Given the description of an element on the screen output the (x, y) to click on. 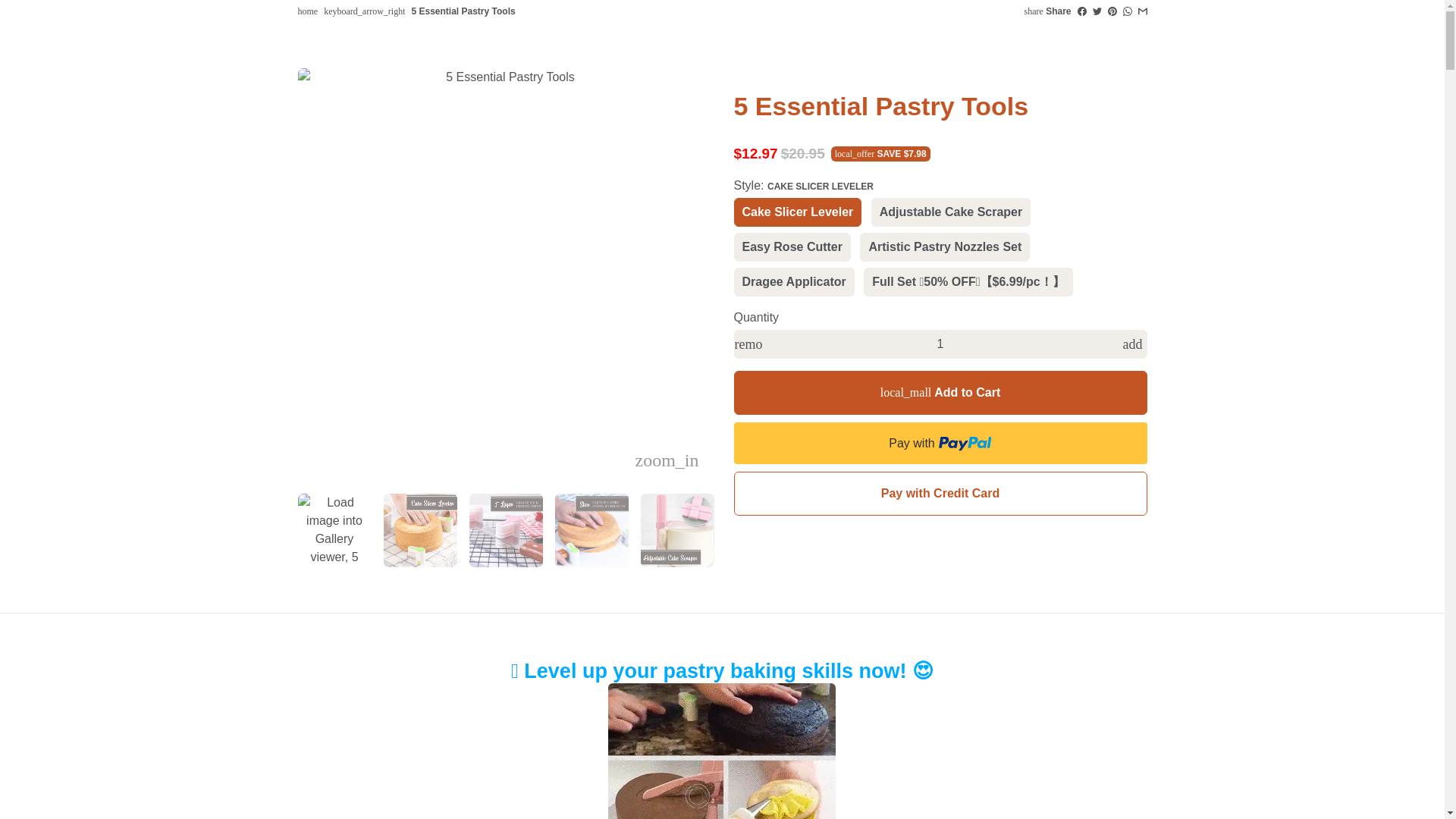
menu (323, 25)
home (307, 10)
Cart (1102, 25)
Increase item quantity by one (1132, 344)
5 Essential Pastry Tools (462, 10)
Woooups (307, 10)
Menu (323, 25)
1 (940, 344)
Reduce item quantity by one (747, 344)
